Given the description of an element on the screen output the (x, y) to click on. 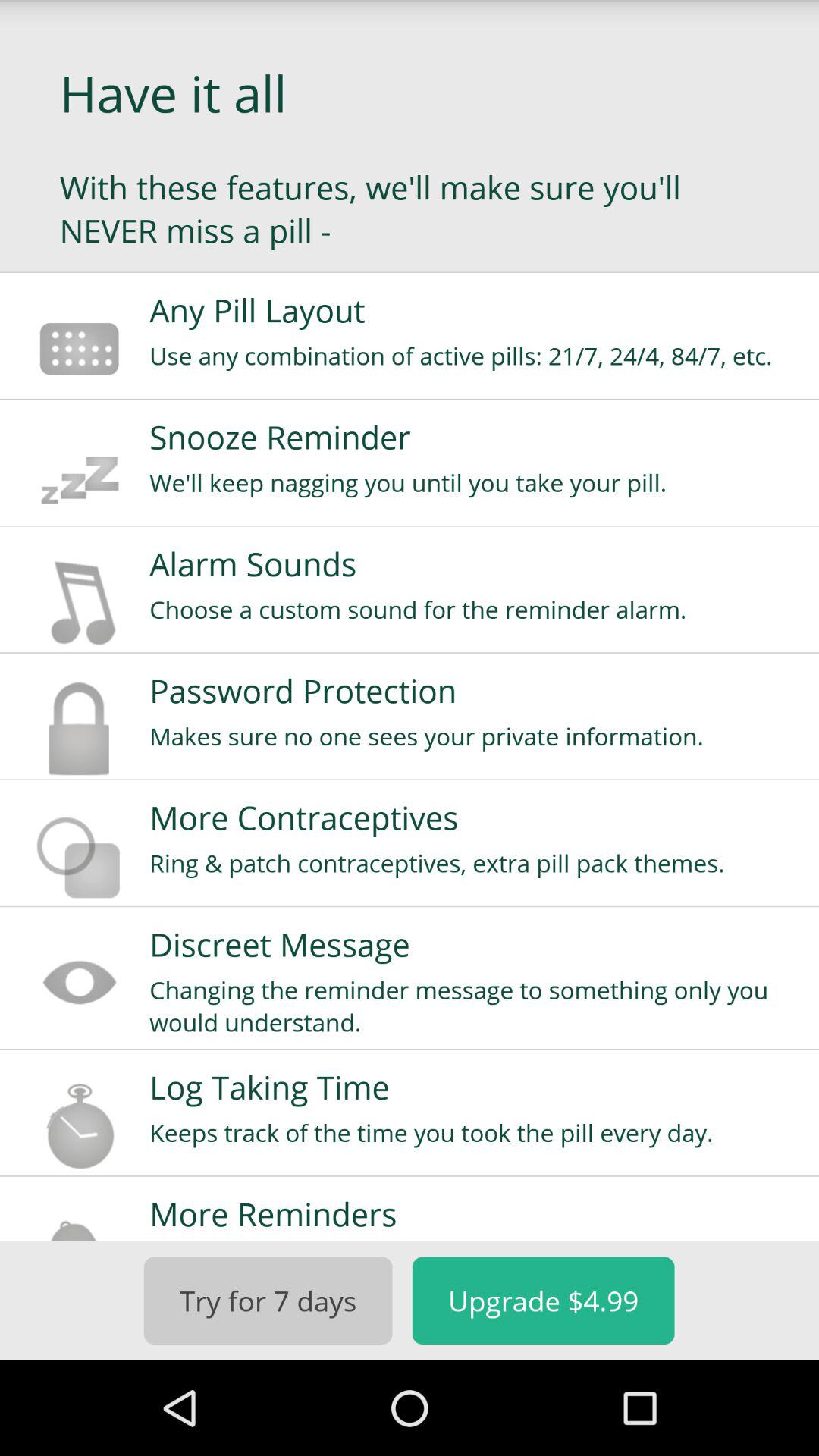
scroll until ring patch contraceptives app (474, 862)
